Given the description of an element on the screen output the (x, y) to click on. 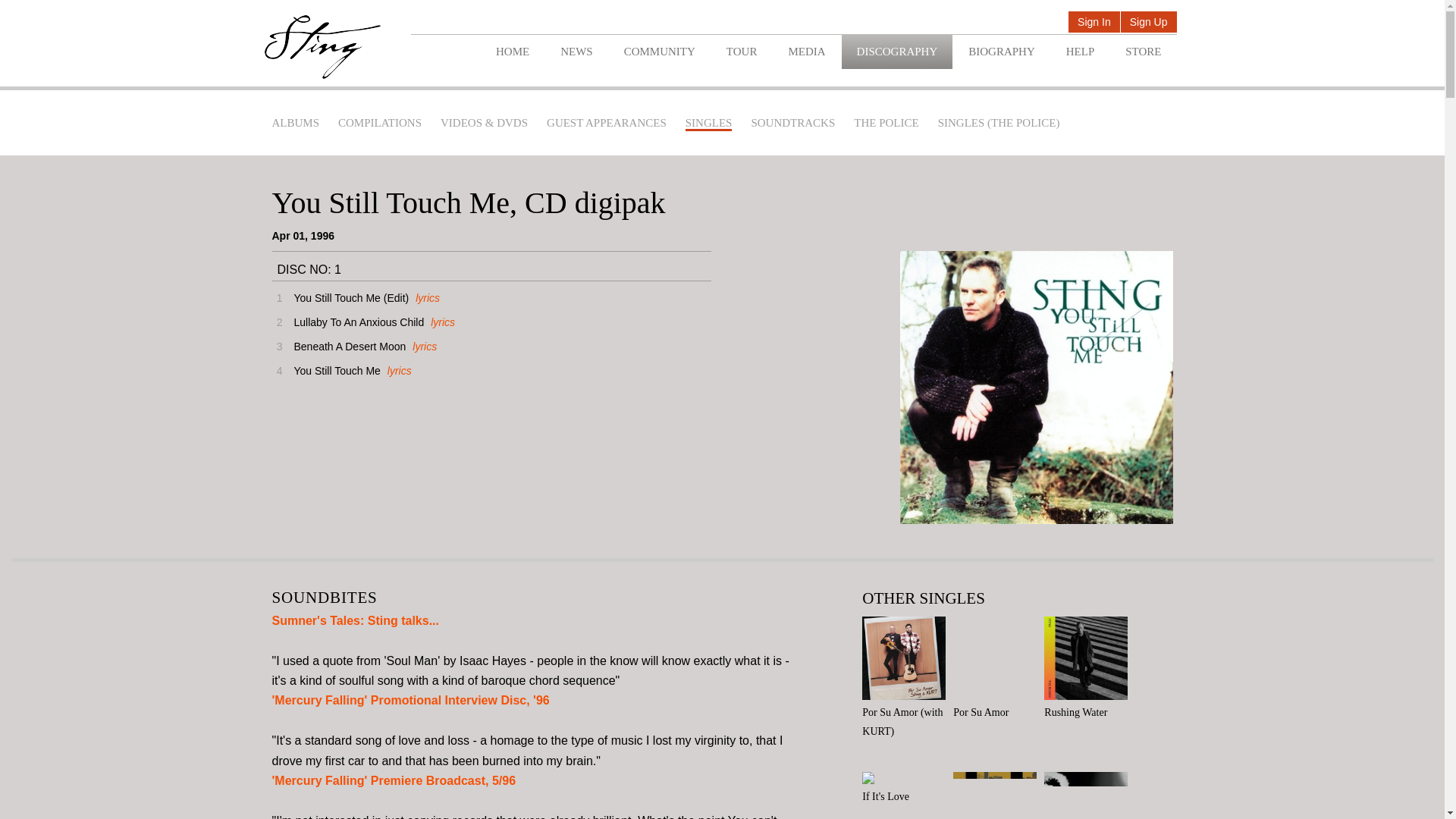
ALBUMS (294, 122)
HELP (1080, 51)
TOUR (742, 51)
COMPILATIONS (379, 122)
lyrics (422, 346)
STORE (1142, 51)
lyrics (440, 322)
Sign Up (1148, 22)
lyrics (398, 370)
SOUNDTRACKS (792, 122)
DISCOGRAPHY (897, 51)
If It's Love (907, 789)
Sign In (1093, 22)
HOME (512, 51)
COMMUNITY (659, 51)
